Given the description of an element on the screen output the (x, y) to click on. 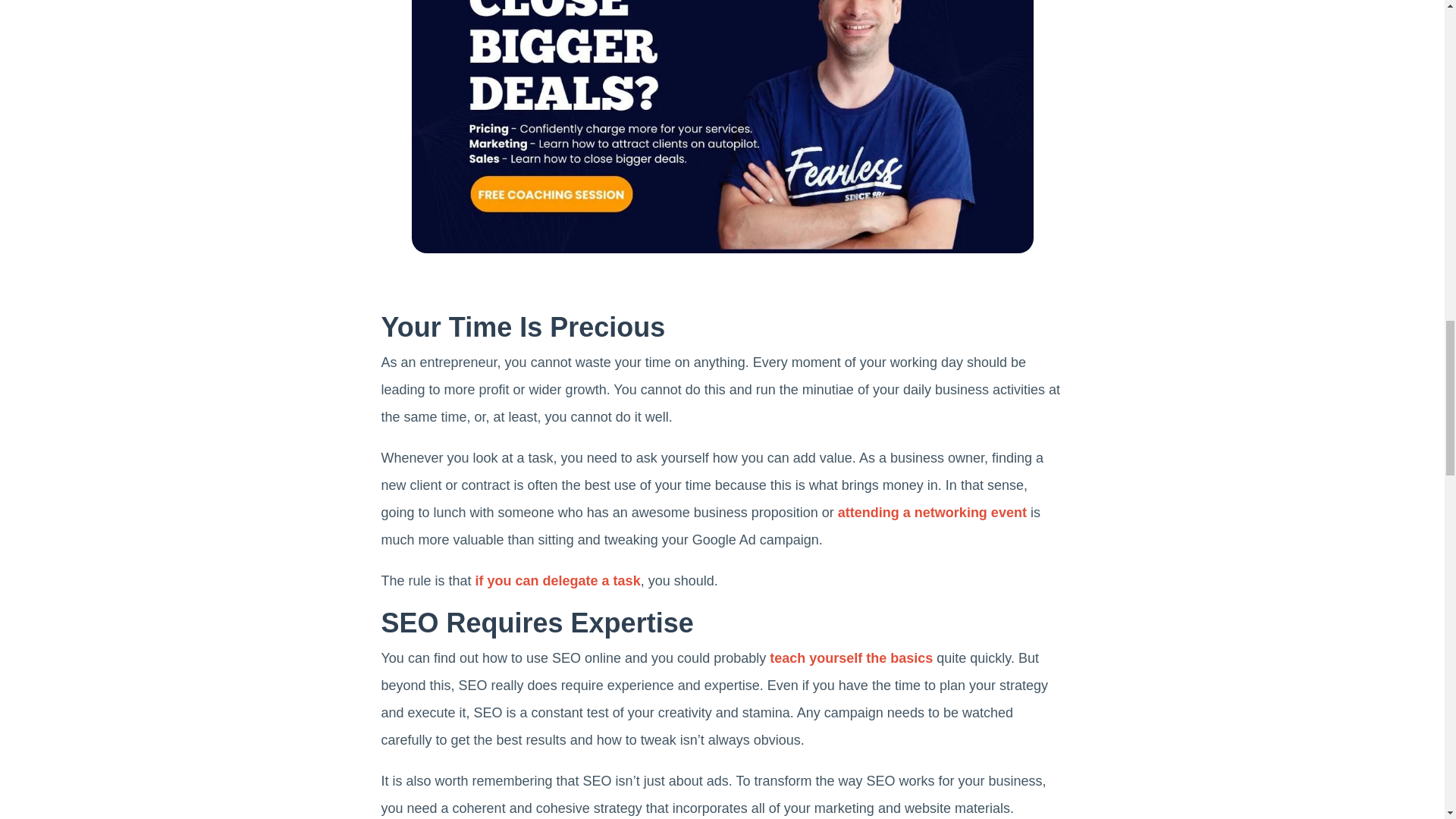
attending a networking event (932, 512)
teach yourself the basics (851, 657)
if you can delegate a task (558, 580)
